Given the description of an element on the screen output the (x, y) to click on. 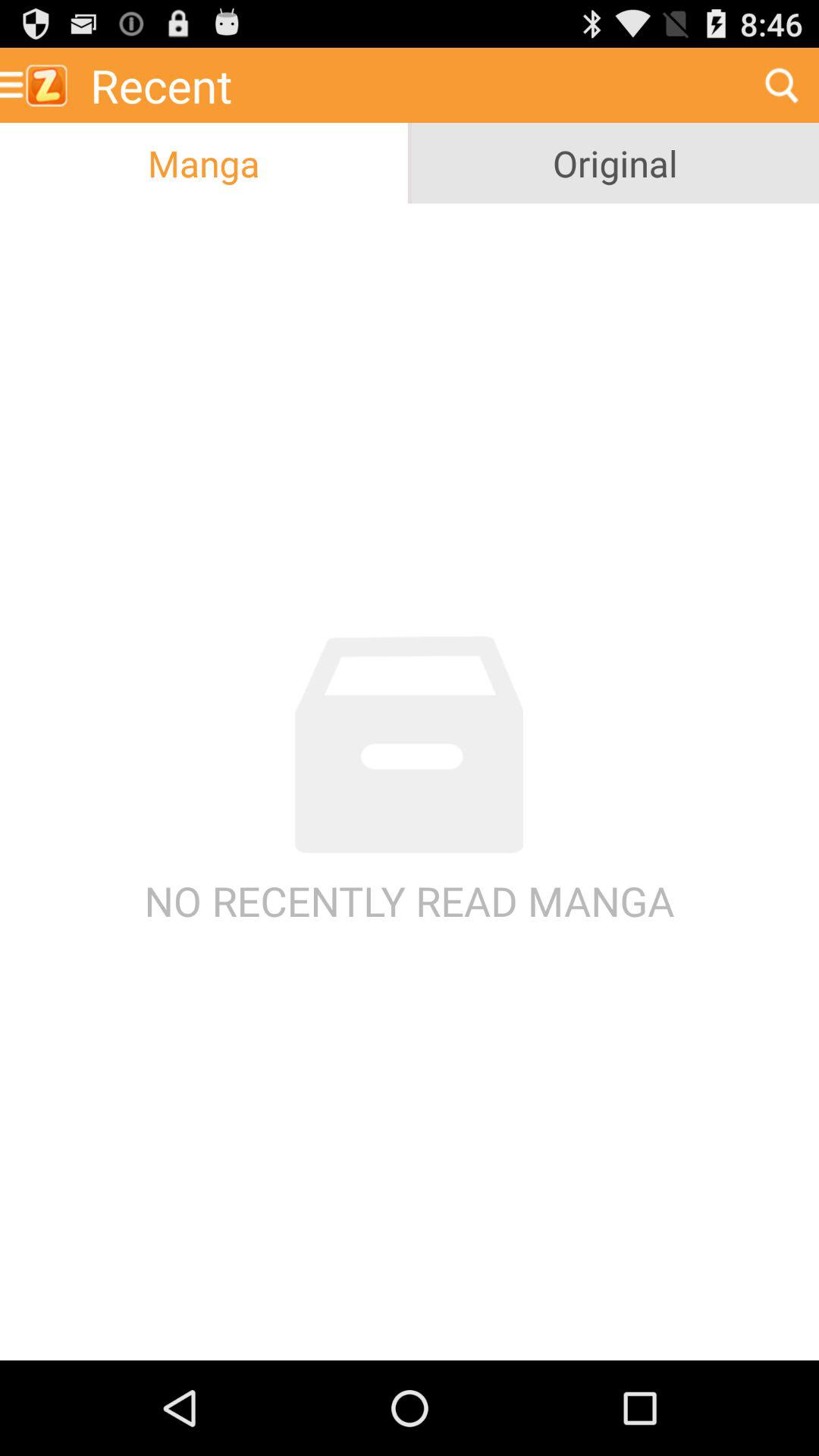
choose the icon to the right of the recent item (781, 84)
